Given the description of an element on the screen output the (x, y) to click on. 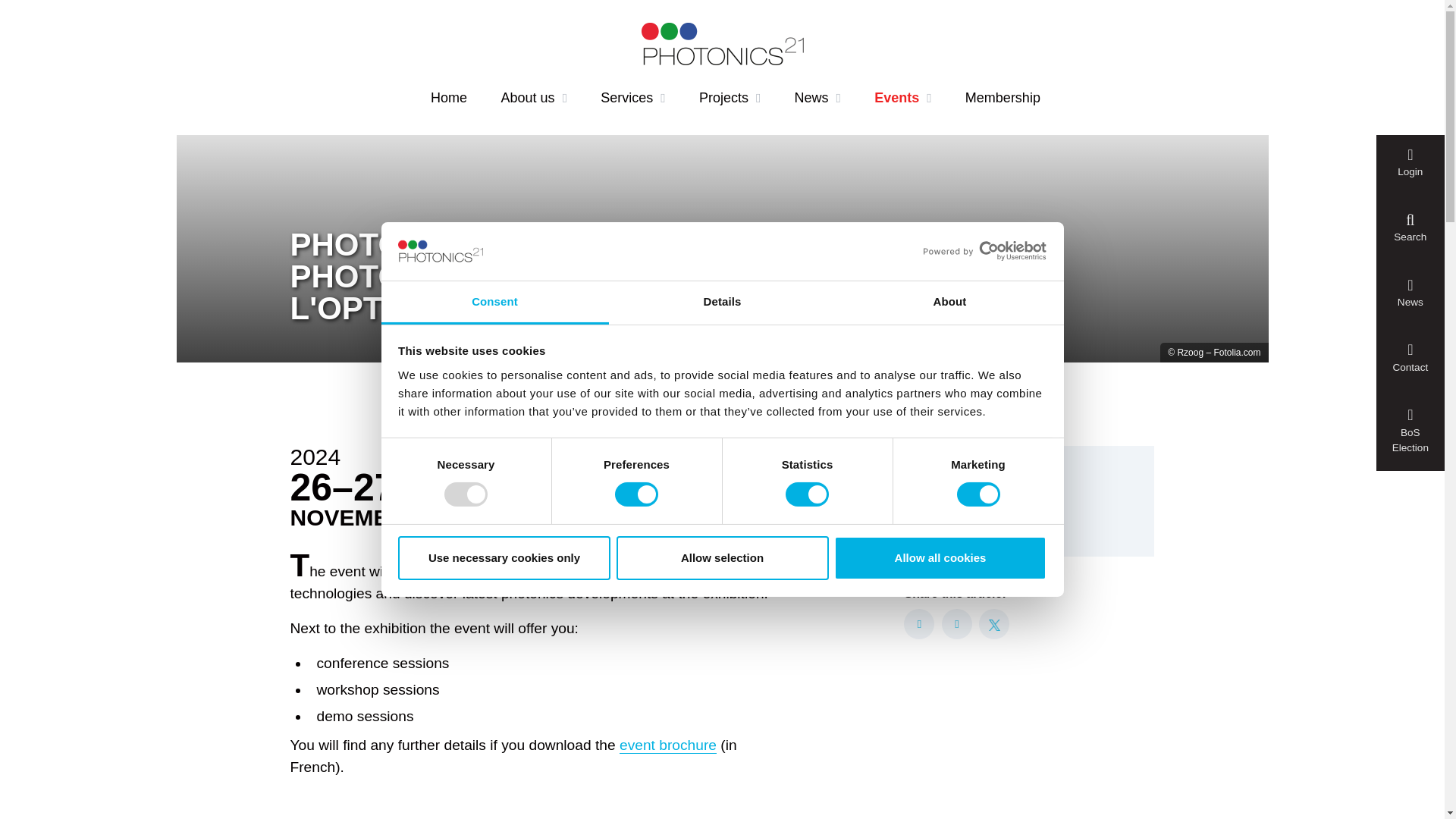
Details (721, 302)
Home (449, 98)
Consent (494, 302)
About (948, 302)
Use necessary cookies only (503, 557)
About us (533, 98)
Allow all cookies (940, 557)
Allow selection (721, 557)
